Given the description of an element on the screen output the (x, y) to click on. 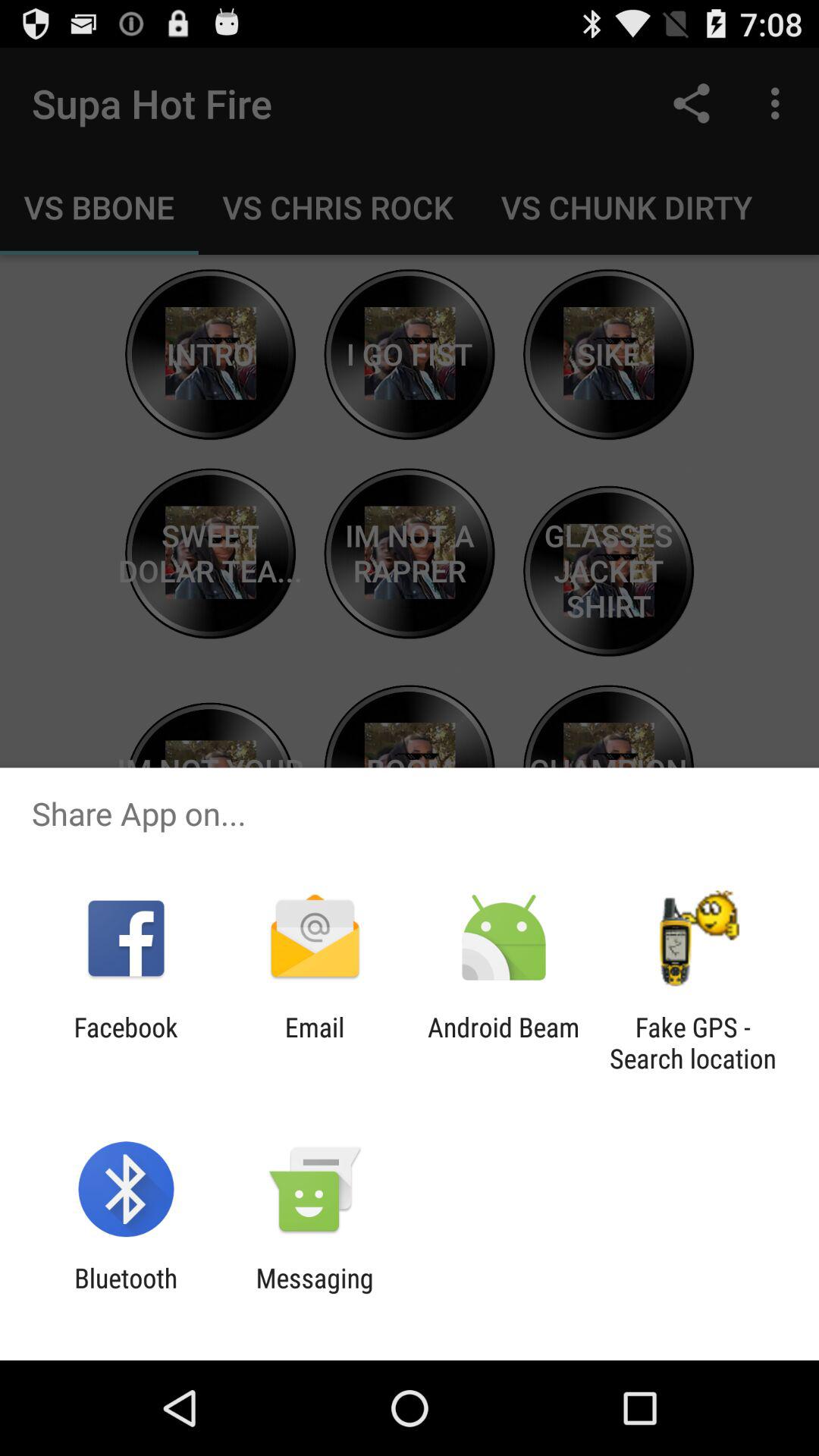
click app to the left of the android beam item (314, 1042)
